Given the description of an element on the screen output the (x, y) to click on. 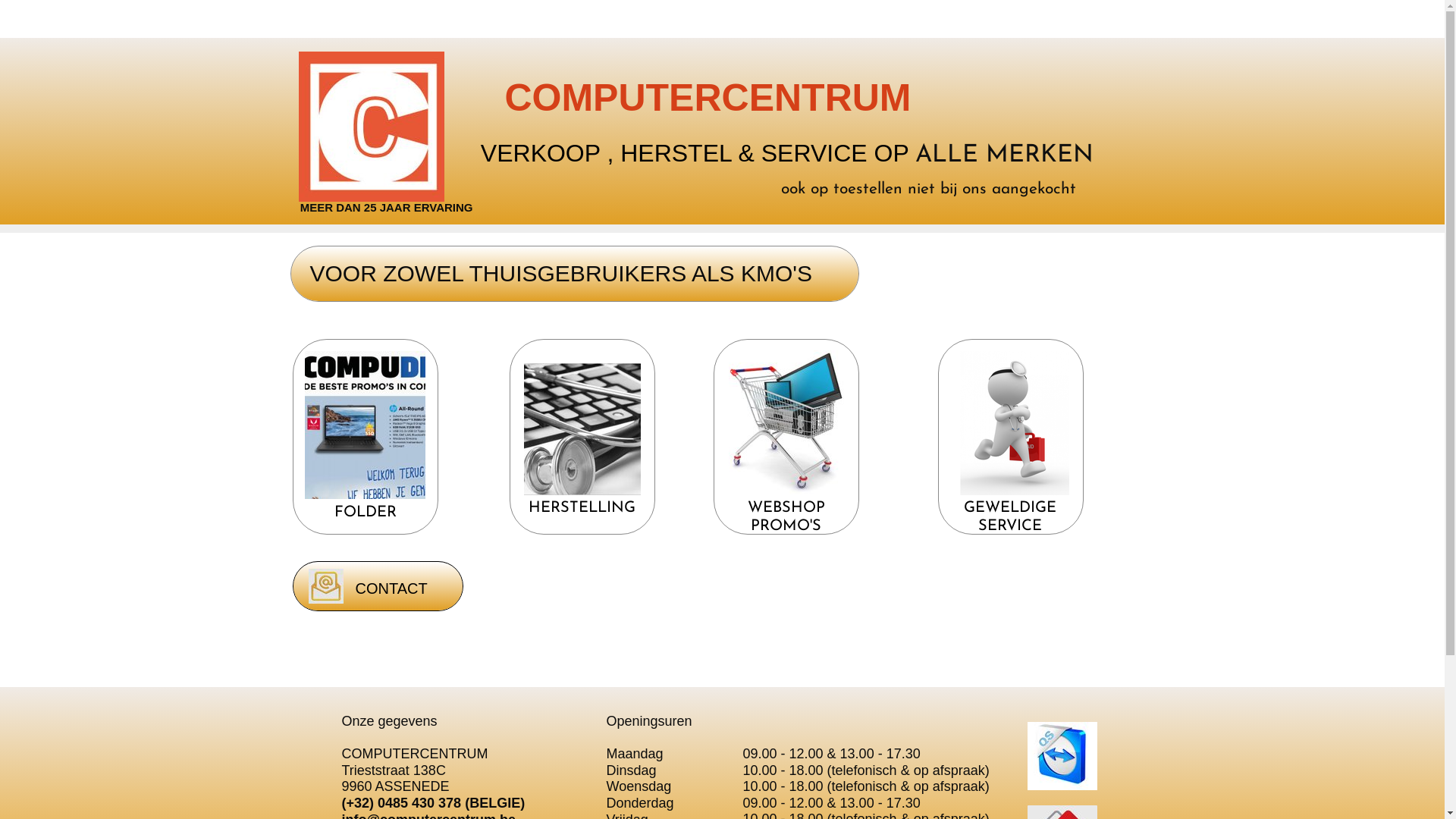
GEWELDIGE SERVICE Element type: text (1009, 517)
FOLDER Element type: text (364, 512)
HERSTELLING Element type: text (581, 508)
WEBSHOP PROMO'S Element type: text (786, 516)
CONTACT Element type: text (390, 588)
  Element type: text (581, 369)
  Element type: text (785, 554)
